Given the description of an element on the screen output the (x, y) to click on. 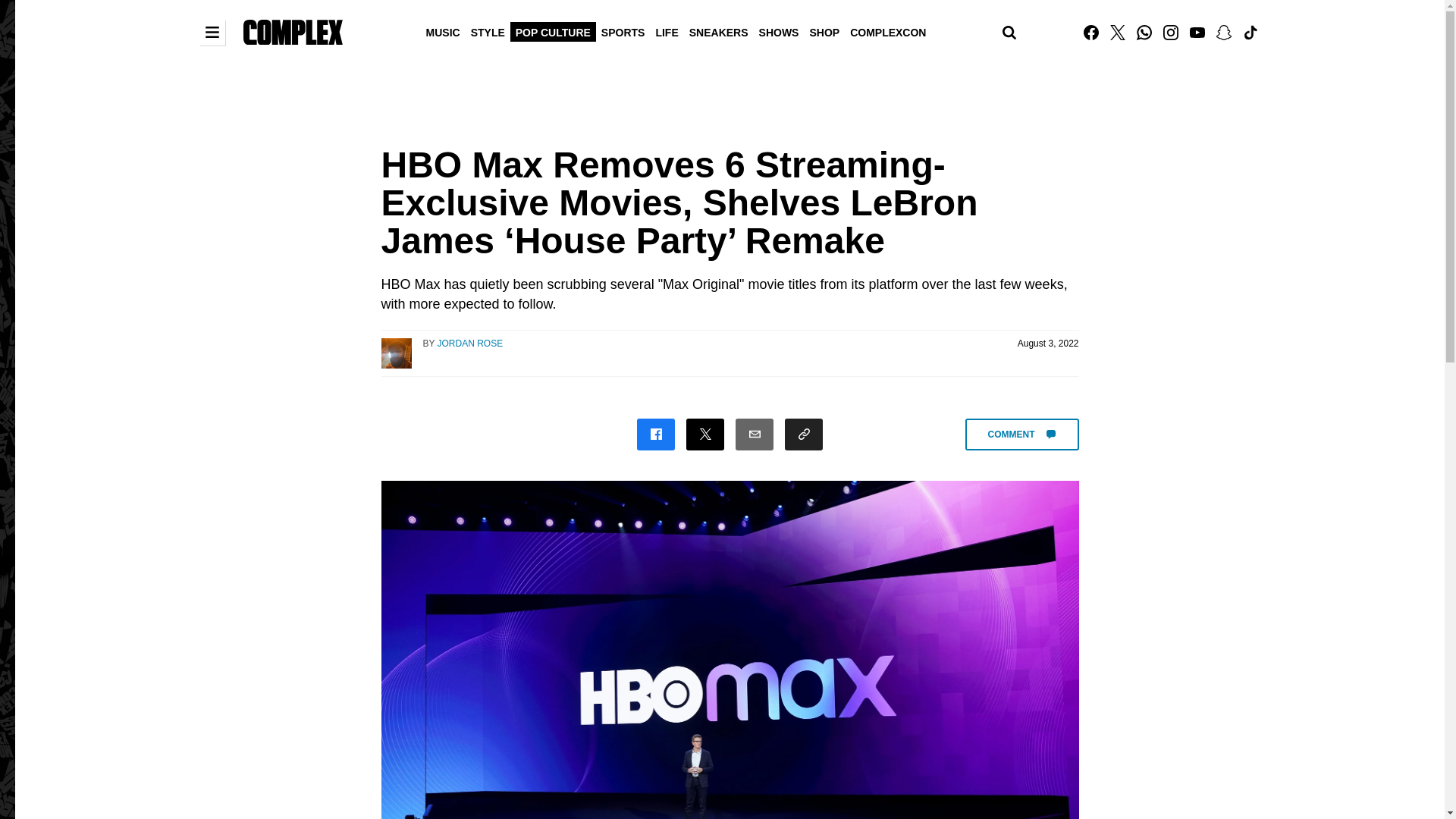
SNEAKERS (719, 30)
STYLE (488, 30)
SHOWS (779, 30)
SPORTS (622, 30)
MUSIC (442, 30)
POP CULTURE (553, 30)
LIFE (665, 30)
SHOP (823, 30)
COMPLEXCON (887, 30)
